Given the description of an element on the screen output the (x, y) to click on. 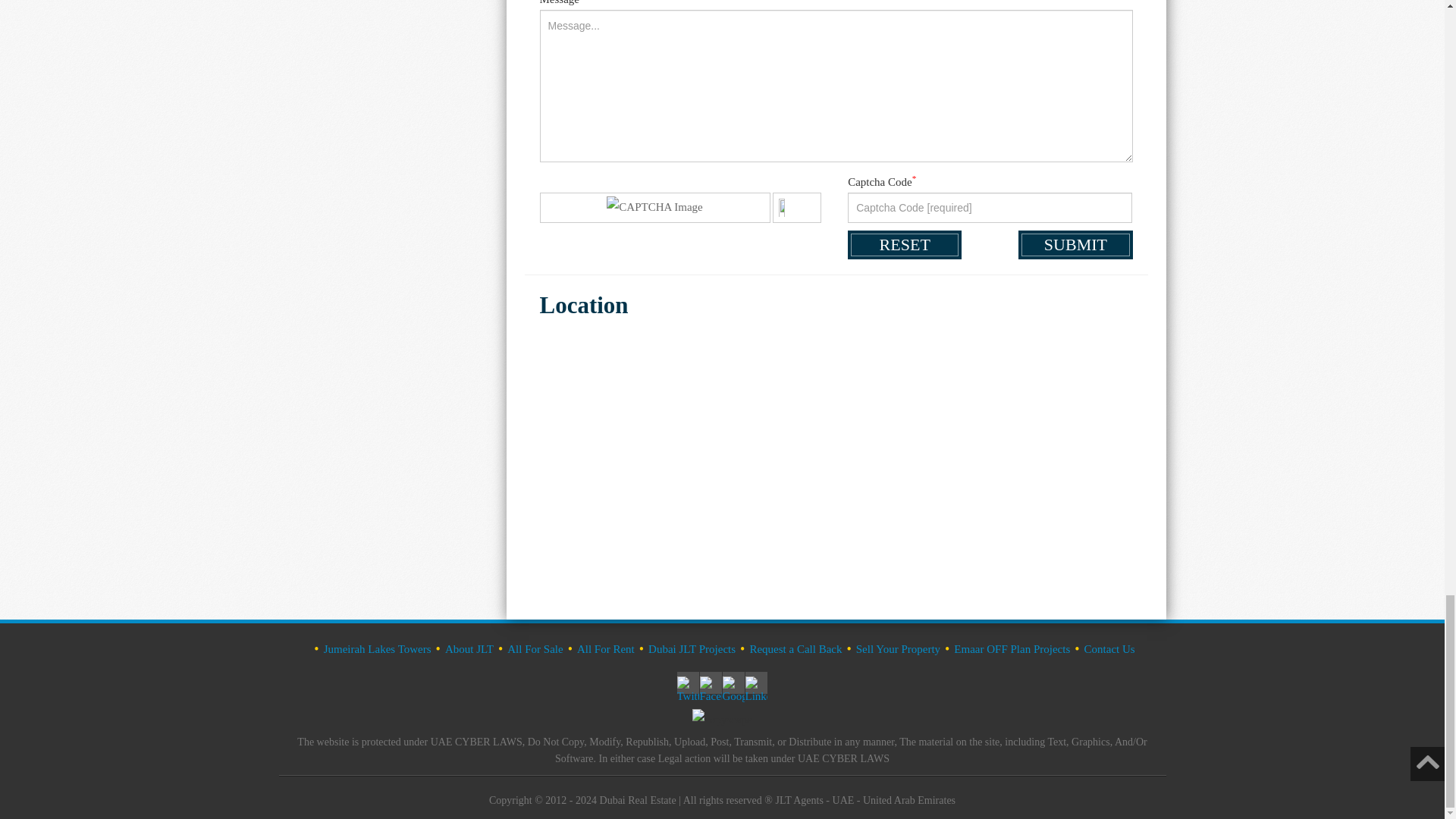
RESET (904, 244)
SUBMIT (1075, 244)
